Given the description of an element on the screen output the (x, y) to click on. 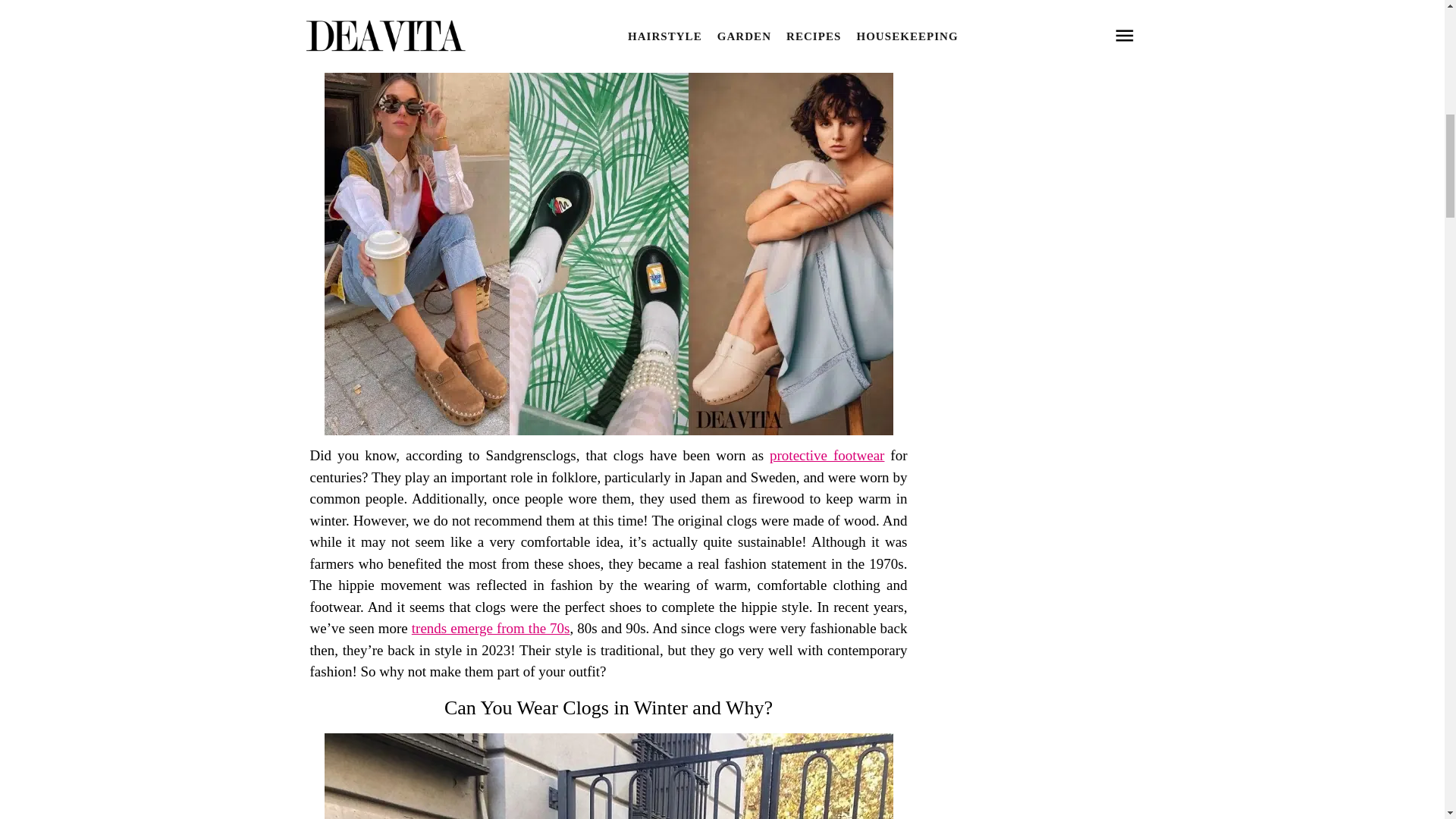
How to wear clogs in winter (608, 776)
